Given the description of an element on the screen output the (x, y) to click on. 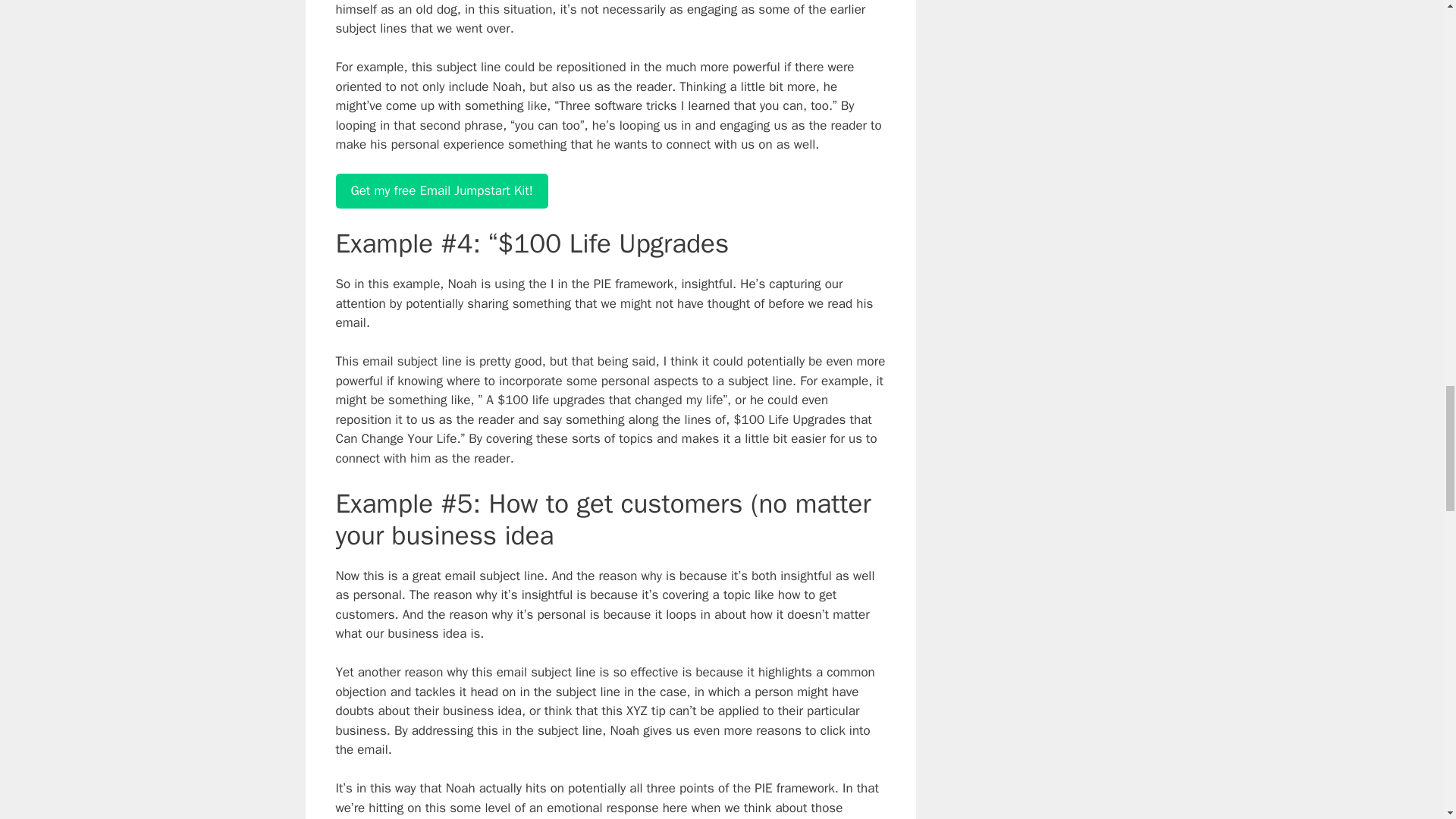
Get my free Email Jumpstart Kit! (440, 190)
